Given the description of an element on the screen output the (x, y) to click on. 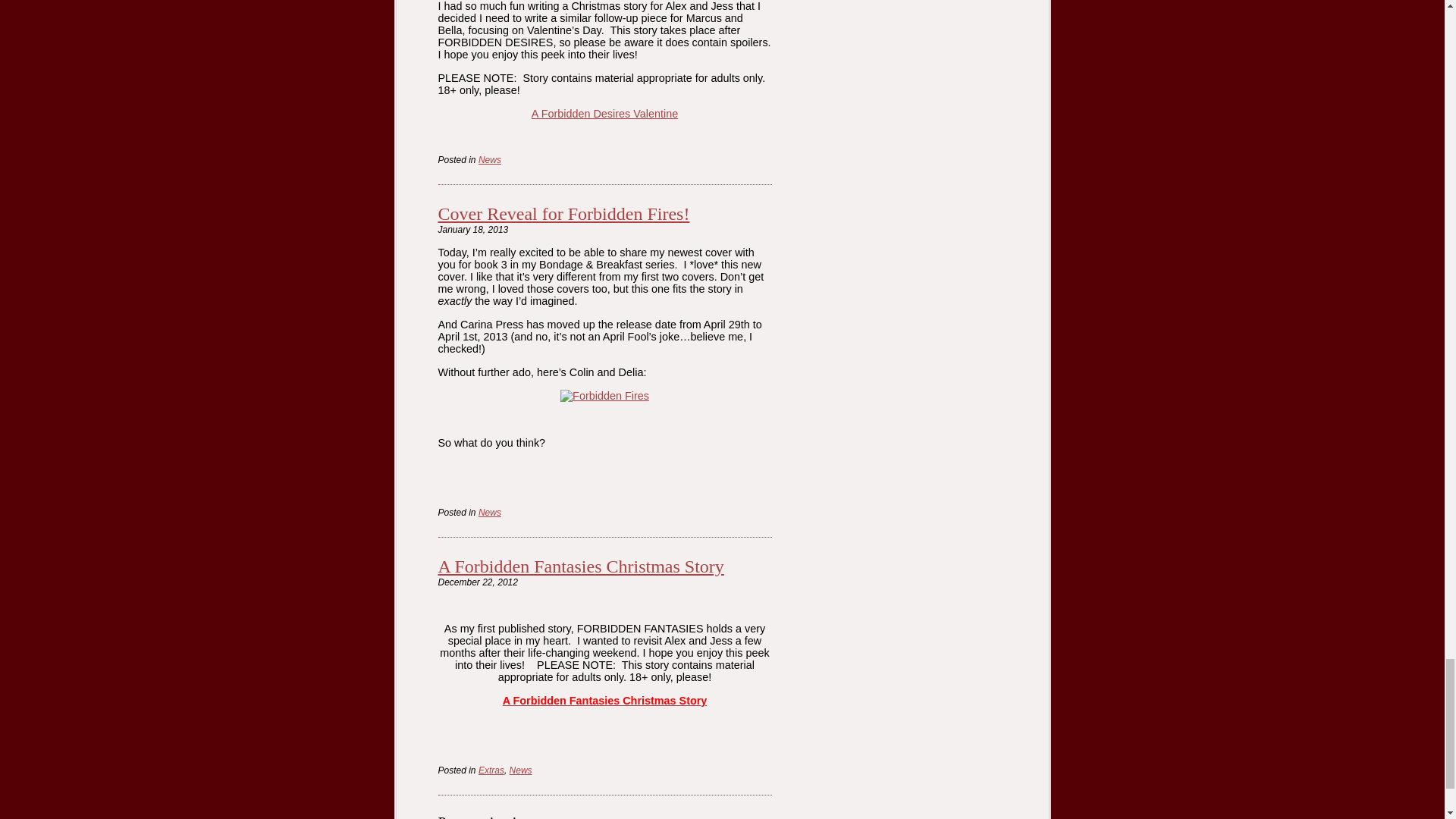
Permalink to Cover Reveal for Forbidden Fires! (564, 213)
Forbidden Desires Valentine (604, 113)
Forbidden Fires Cover (604, 395)
